Given the description of an element on the screen output the (x, y) to click on. 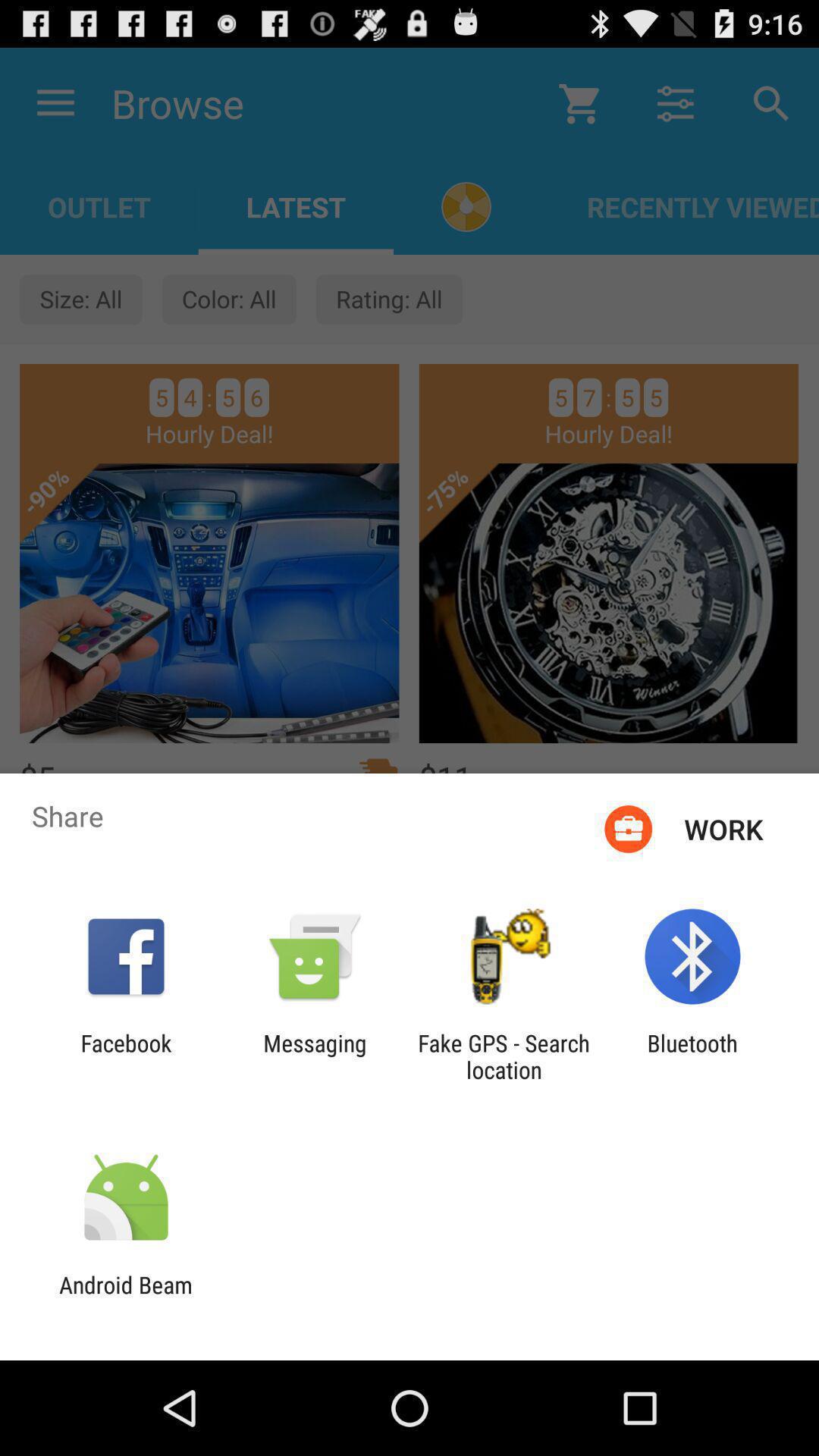
click the app next to messaging (125, 1056)
